Given the description of an element on the screen output the (x, y) to click on. 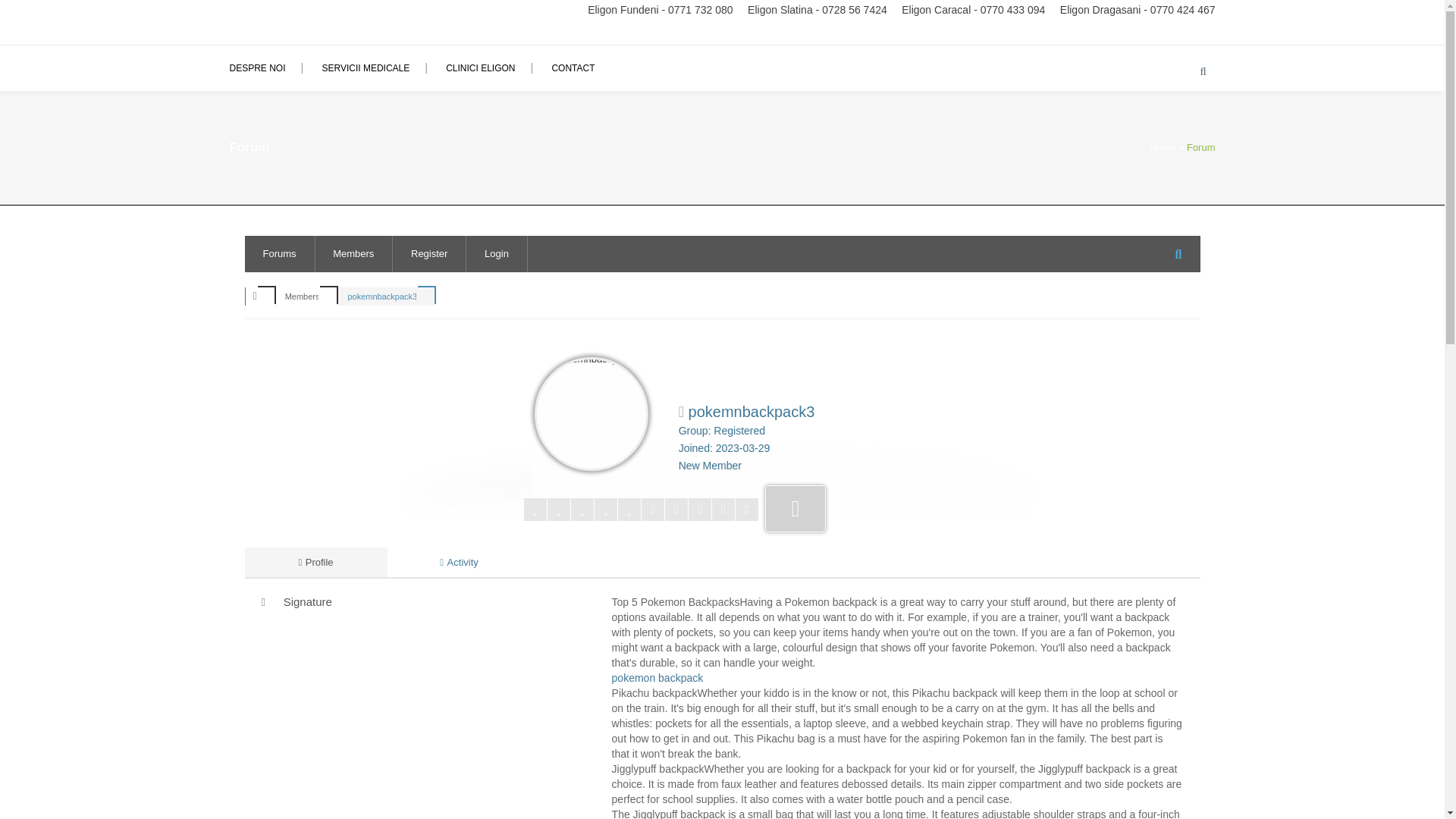
DESPRE NOI (264, 67)
Rating Badge (795, 508)
SERVICII MEDICALE (365, 67)
Rating Title (709, 465)
CONTACT (572, 67)
CLINICI ELIGON (480, 67)
Member Rating (640, 509)
